Given the description of an element on the screen output the (x, y) to click on. 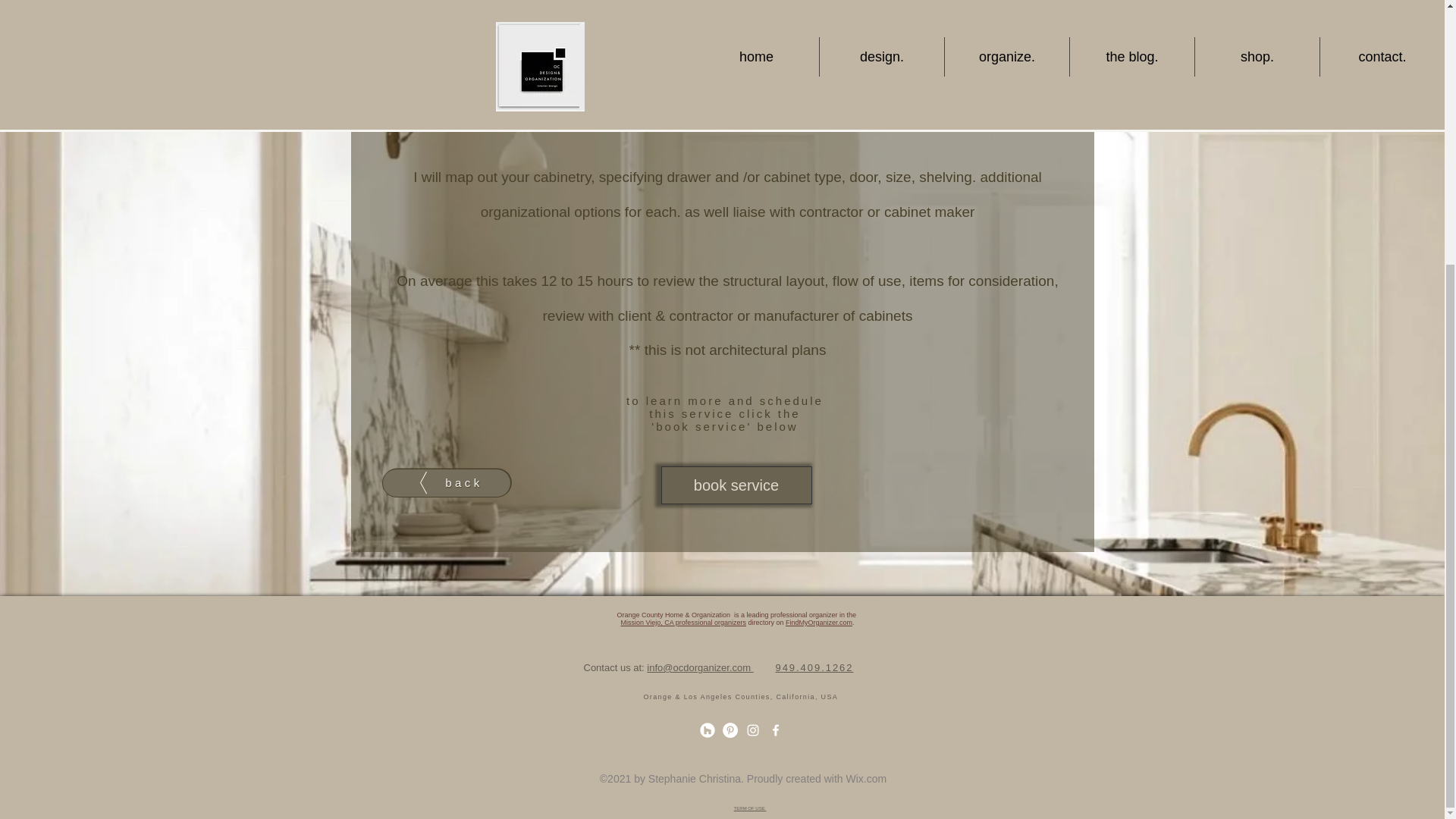
FindMyOrganizer.com (818, 622)
Wix.com (865, 778)
book service (736, 485)
back (446, 482)
949.409.1262 (813, 667)
Mission Viejo, CA professional organizers (682, 622)
